Given the description of an element on the screen output the (x, y) to click on. 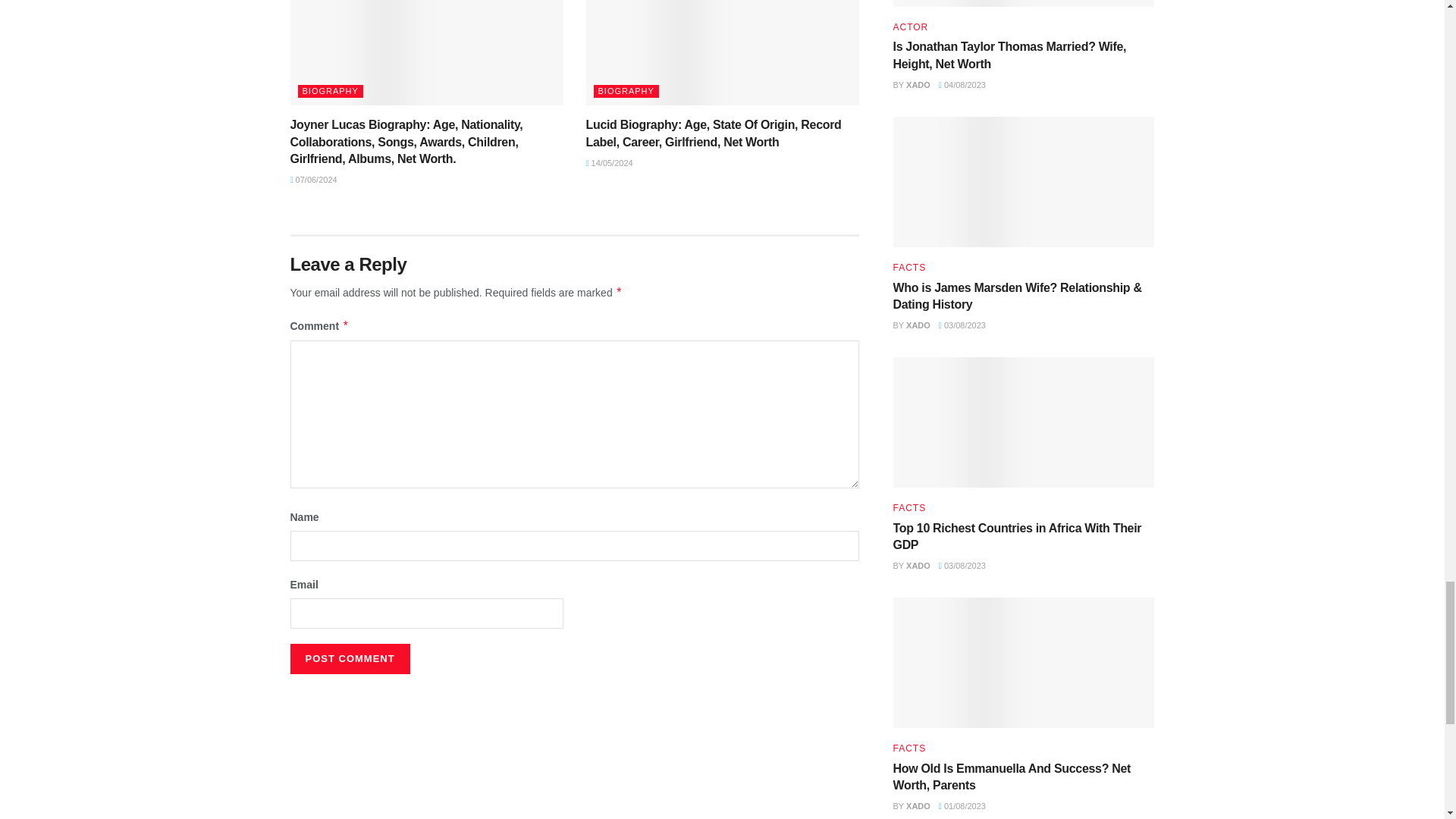
Post Comment (349, 658)
